Given the description of an element on the screen output the (x, y) to click on. 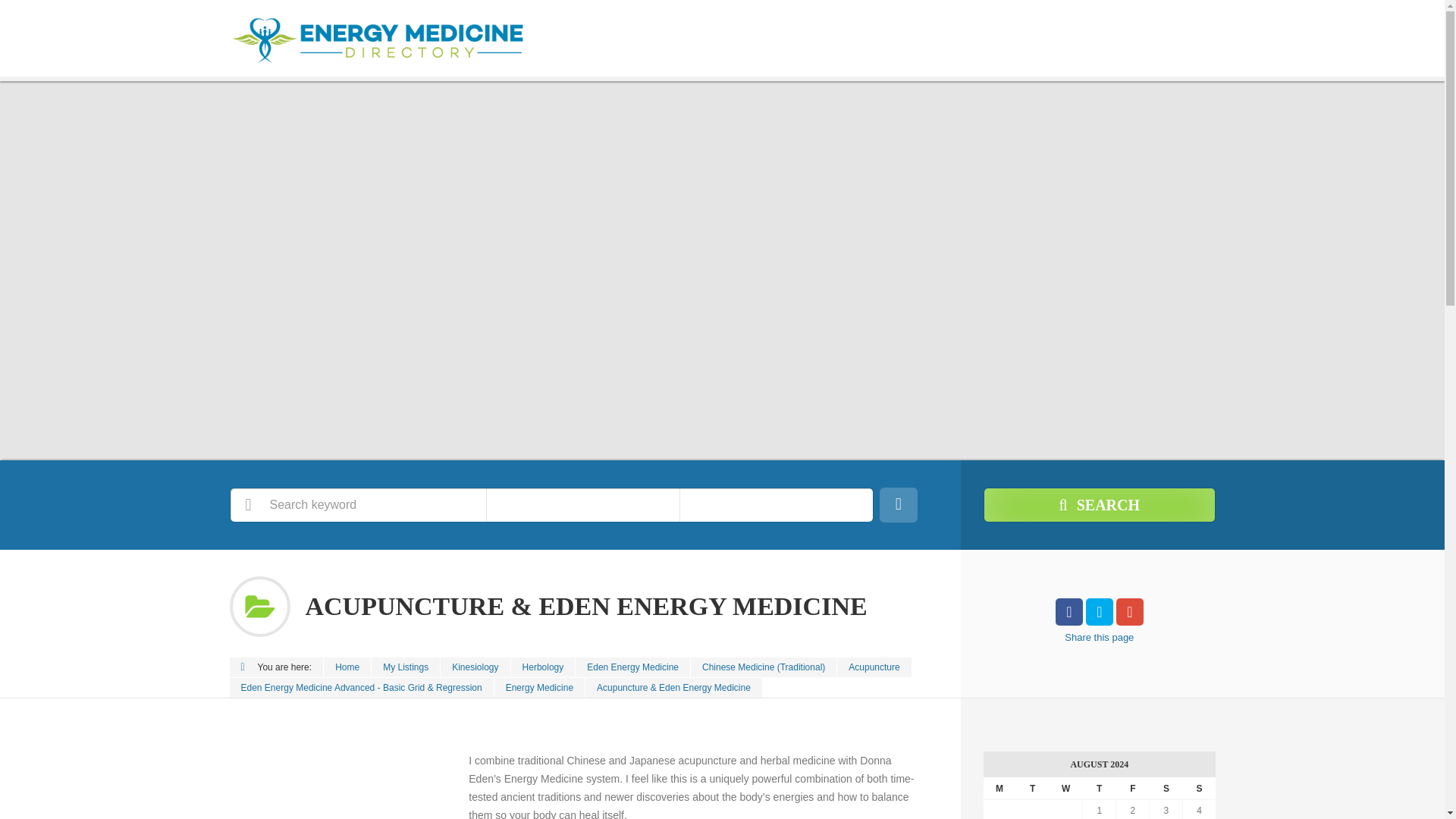
Acupuncture (874, 667)
Herbology (543, 667)
Energy Medicine Directory (347, 667)
My Listings (405, 667)
Friday (1133, 789)
Energy Medicine (540, 687)
Search (1099, 504)
Sunday (1198, 789)
Thursday (1099, 789)
Wednesday (1066, 789)
